Given the description of an element on the screen output the (x, y) to click on. 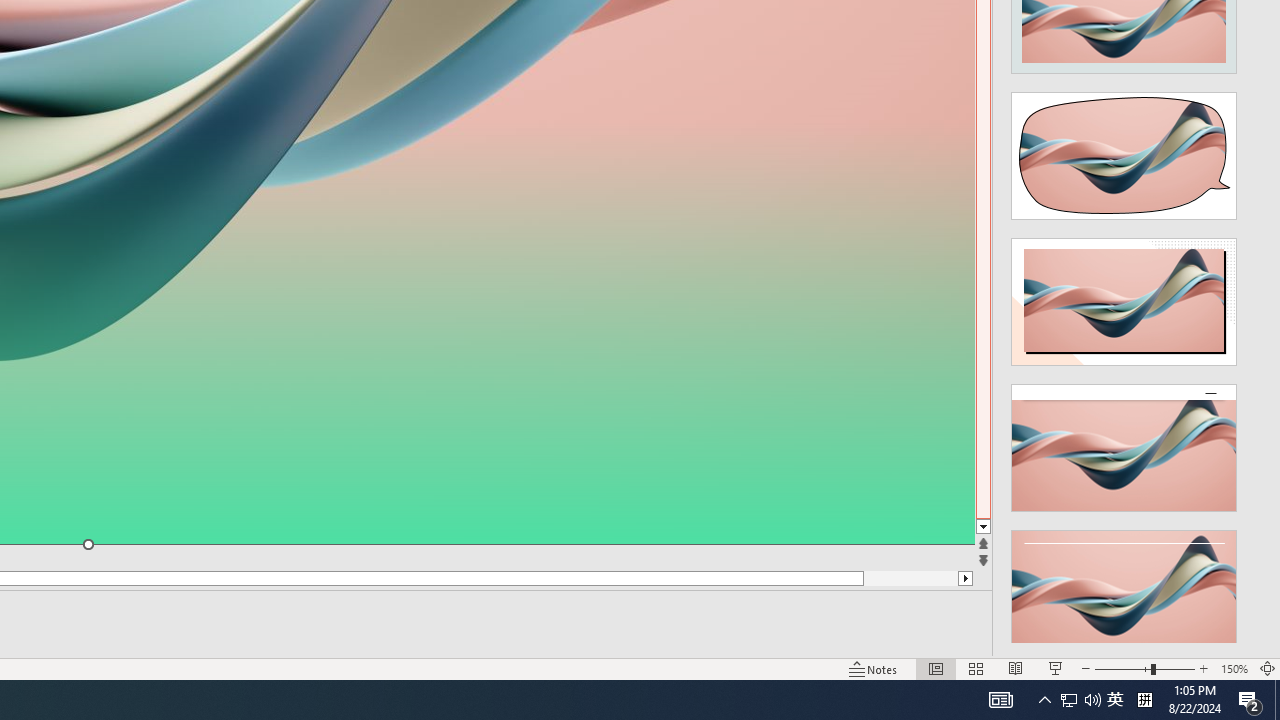
Zoom 150% (1234, 668)
